Given the description of an element on the screen output the (x, y) to click on. 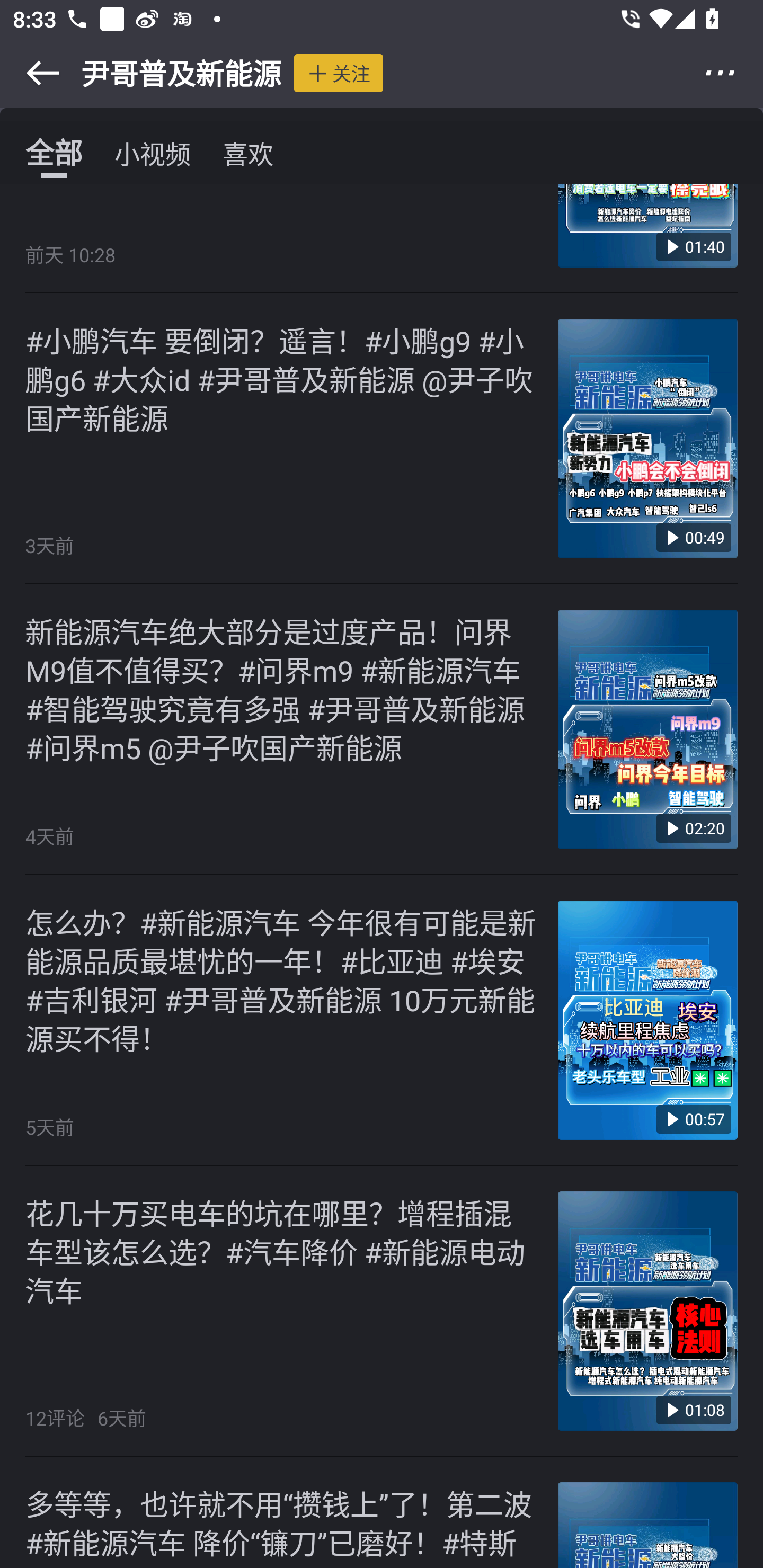
 (30, 72)
 (732, 72)
 关注 (338, 72)
全部 (53, 152)
小视频 (152, 152)
喜欢 (247, 152)
#小鹏汽车 要倒闭？遥言！#小鹏g9 #小鹏g6 #大众id #尹哥普及新能源 @尹子吹国产新能源 (281, 377)
花几十万买电车的坑在哪里？增程插混车型该怎么选？#汽车降价 #新能源电动汽车 (281, 1250)
